Given the description of an element on the screen output the (x, y) to click on. 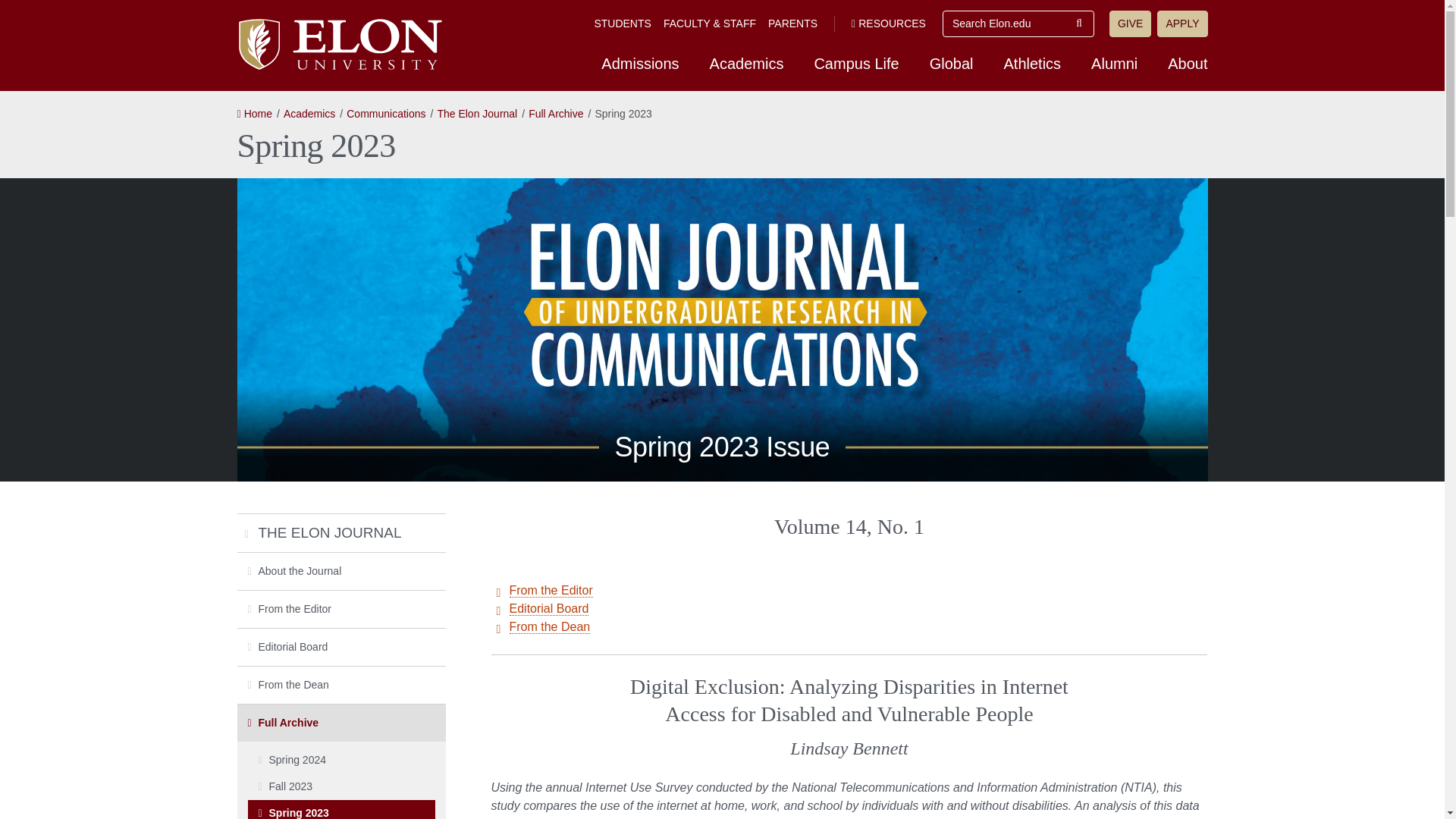
Elon University home (338, 44)
Full Archive (555, 113)
Home (252, 113)
Academics (308, 113)
RESOURCES (888, 23)
GIVE (1130, 23)
Editorial Board (549, 608)
Alumni (1114, 63)
APPLY (1182, 23)
The Elon Journal (476, 113)
